Given the description of an element on the screen output the (x, y) to click on. 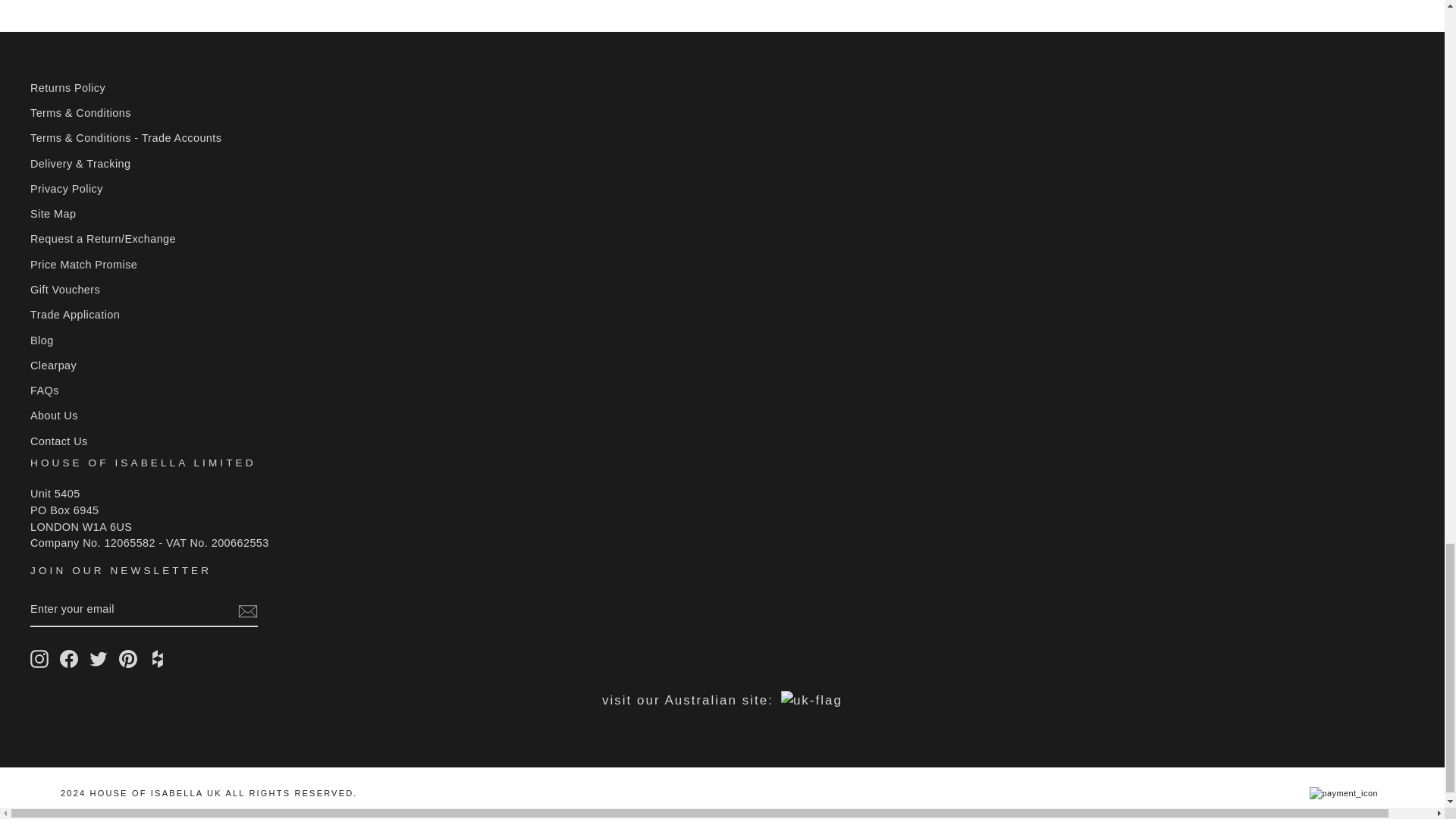
House of Isabella UK on Pinterest (127, 659)
House of Isabella UK on Facebook (68, 659)
House of Isabella UK on Instagram (39, 659)
House of Isabella UK on Twitter (97, 659)
